Given the description of an element on the screen output the (x, y) to click on. 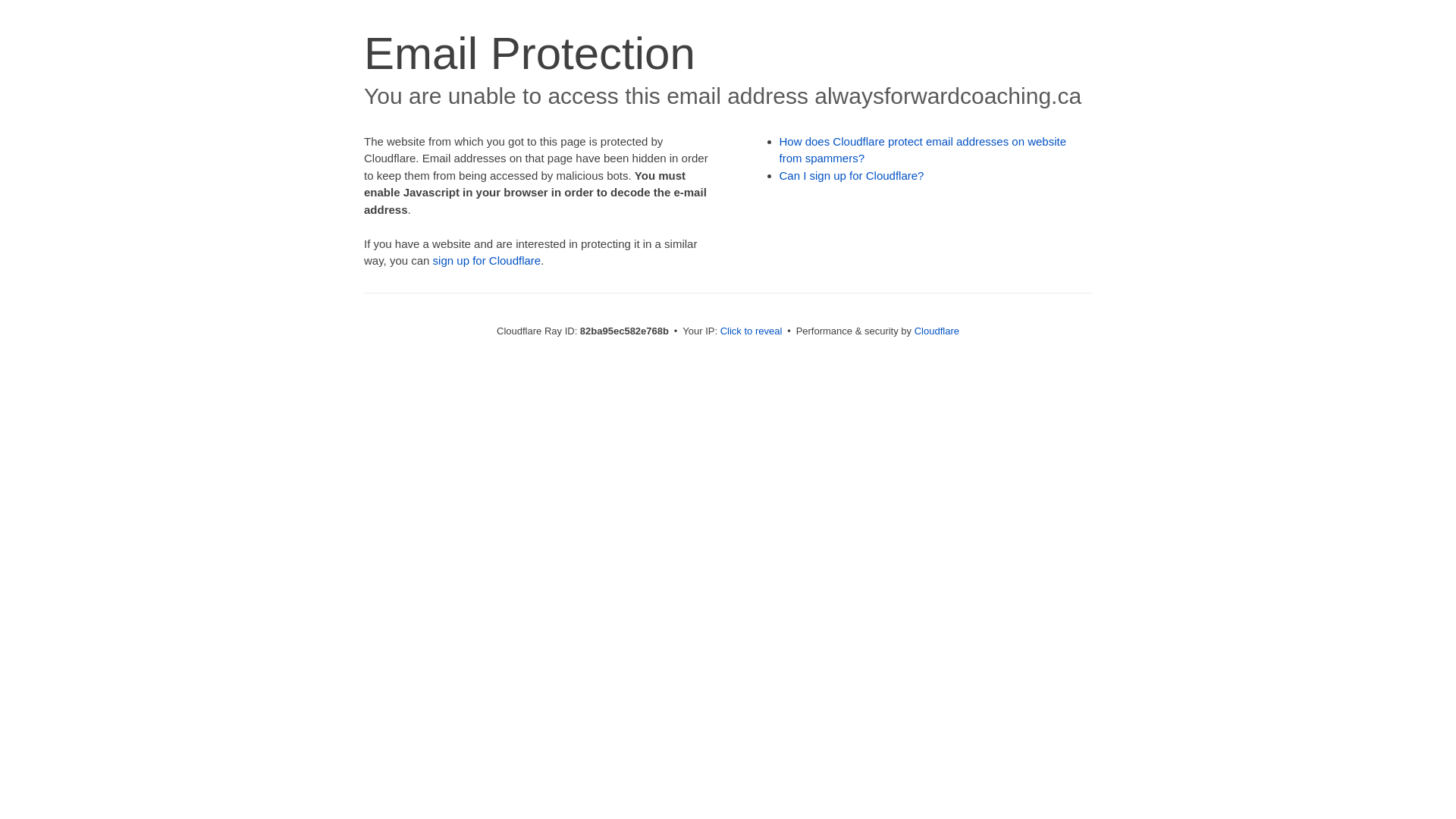
Can I sign up for Cloudflare? Element type: text (851, 175)
sign up for Cloudflare Element type: text (487, 260)
Click to reveal Element type: text (751, 330)
Cloudflare Element type: text (936, 330)
